Given the description of an element on the screen output the (x, y) to click on. 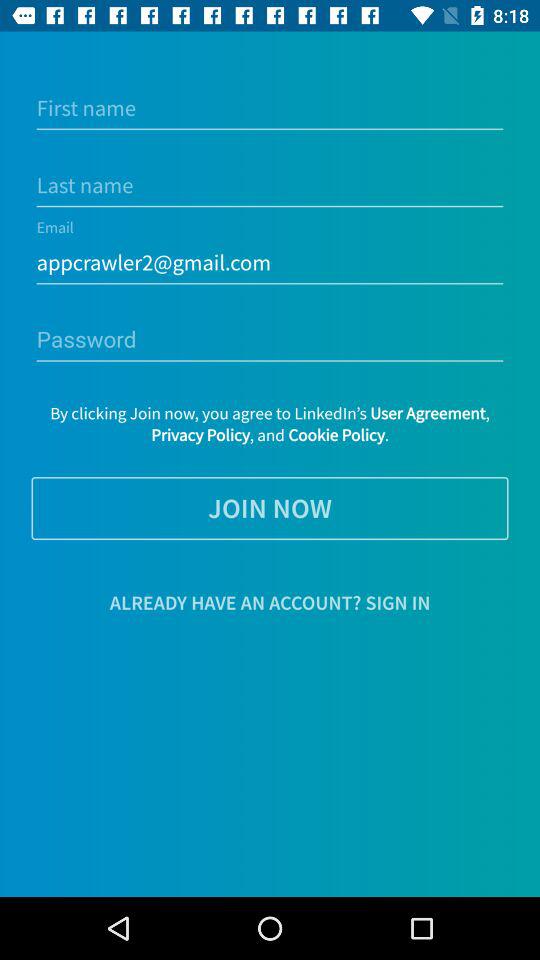
enter first name (269, 108)
